Given the description of an element on the screen output the (x, y) to click on. 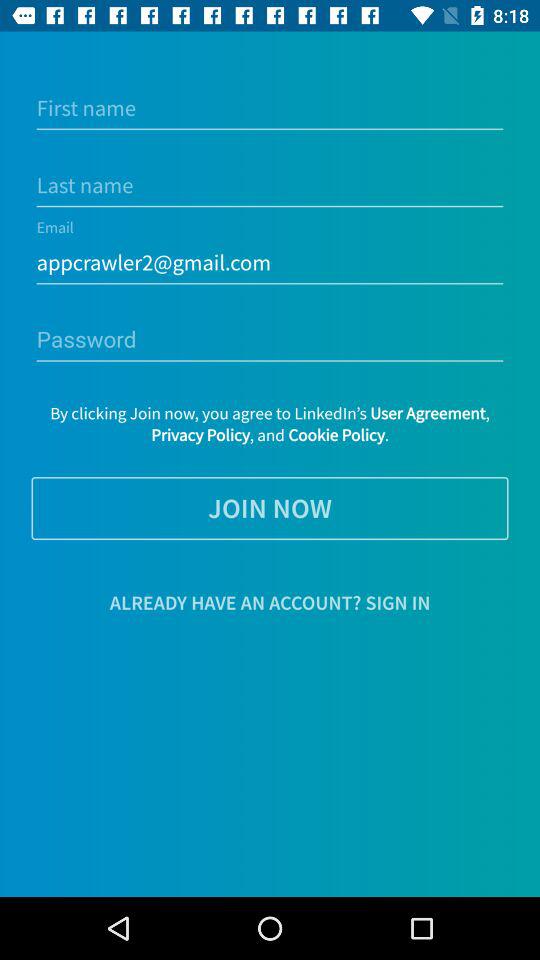
enter first name (269, 108)
